Given the description of an element on the screen output the (x, y) to click on. 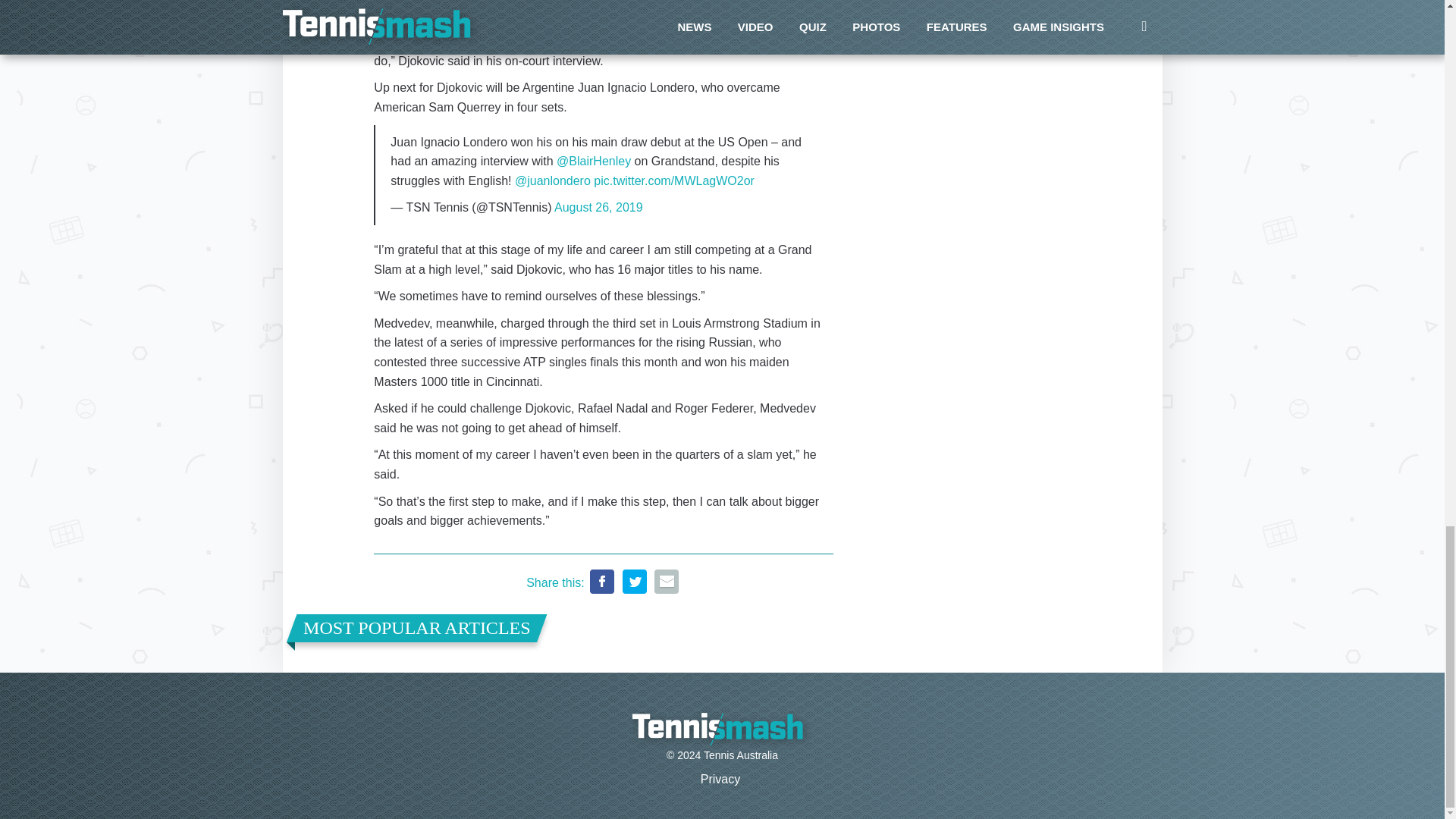
Privacy (719, 779)
August 26, 2019 (598, 206)
